Given the description of an element on the screen output the (x, y) to click on. 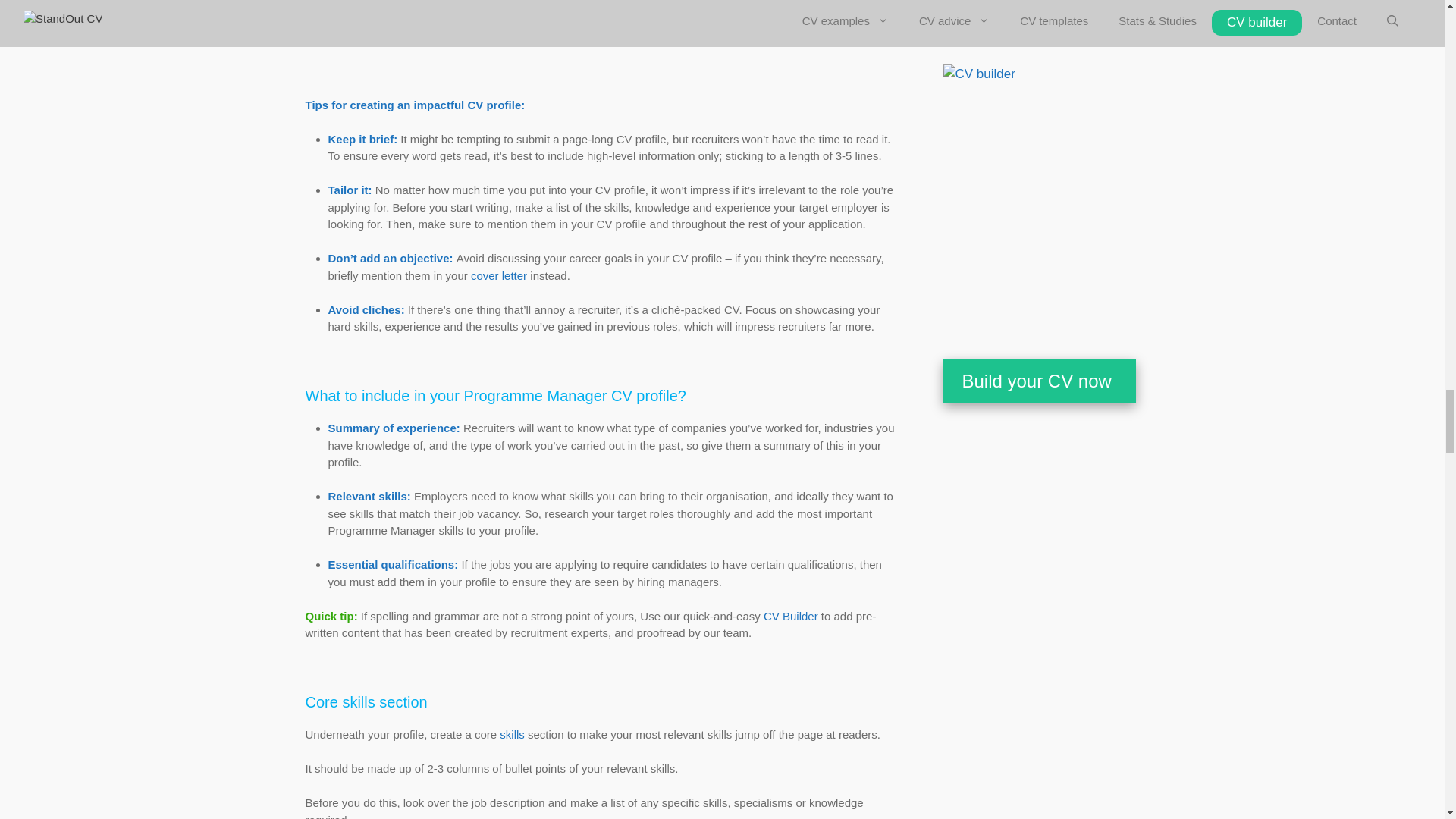
CV skills (511, 734)
cover letter (498, 275)
